Given the description of an element on the screen output the (x, y) to click on. 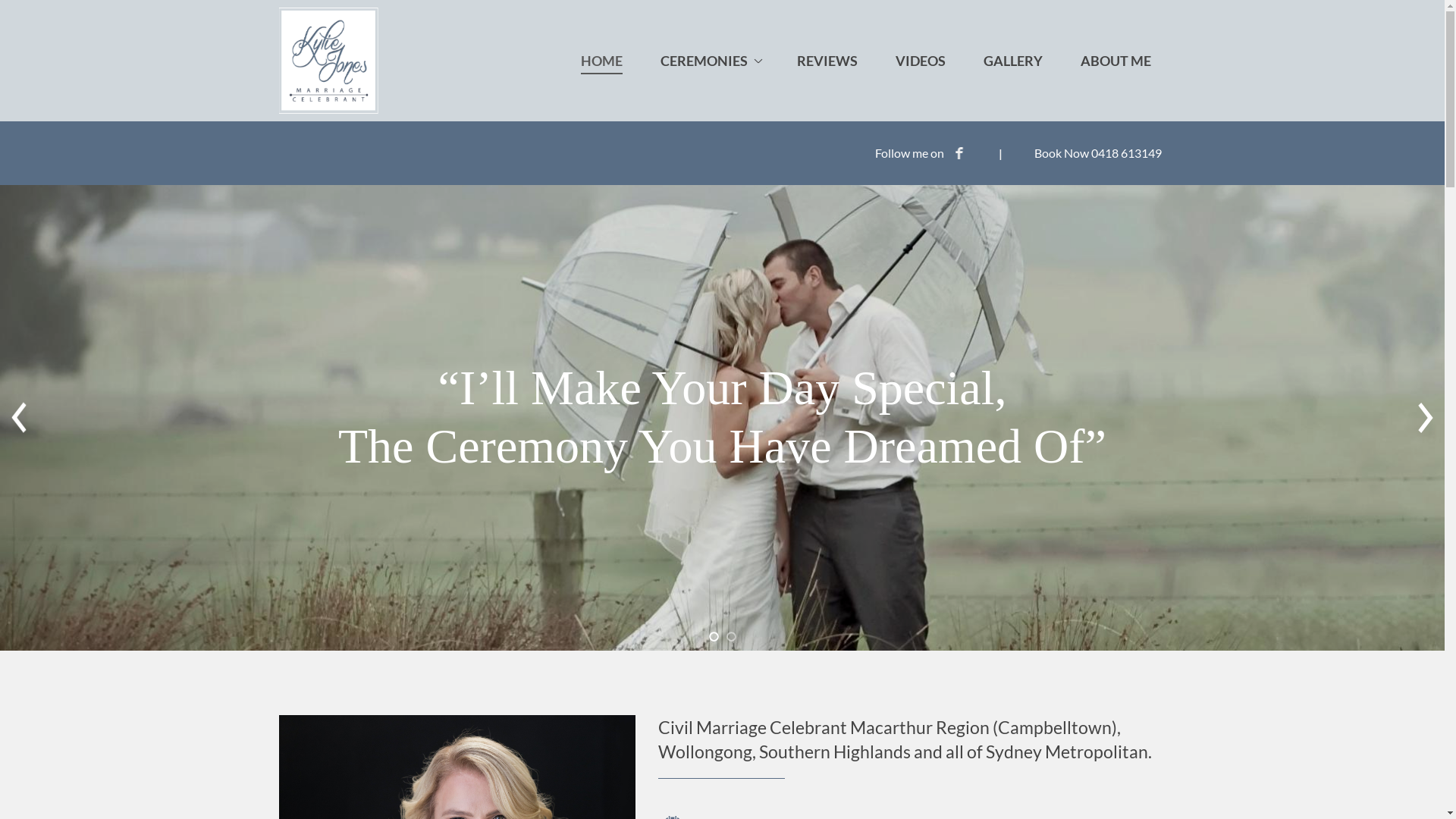
GALLERY Element type: text (1012, 60)
VIDEOS Element type: text (919, 60)
Follow me on Element type: text (920, 153)
REVIEWS Element type: text (826, 60)
HOME Element type: text (601, 60)
CEREMONIES Element type: text (708, 60)
Book Now 0418 613149 Element type: text (1097, 153)
| Element type: text (999, 153)
ABOUT ME Element type: text (1114, 60)
